Given the description of an element on the screen output the (x, y) to click on. 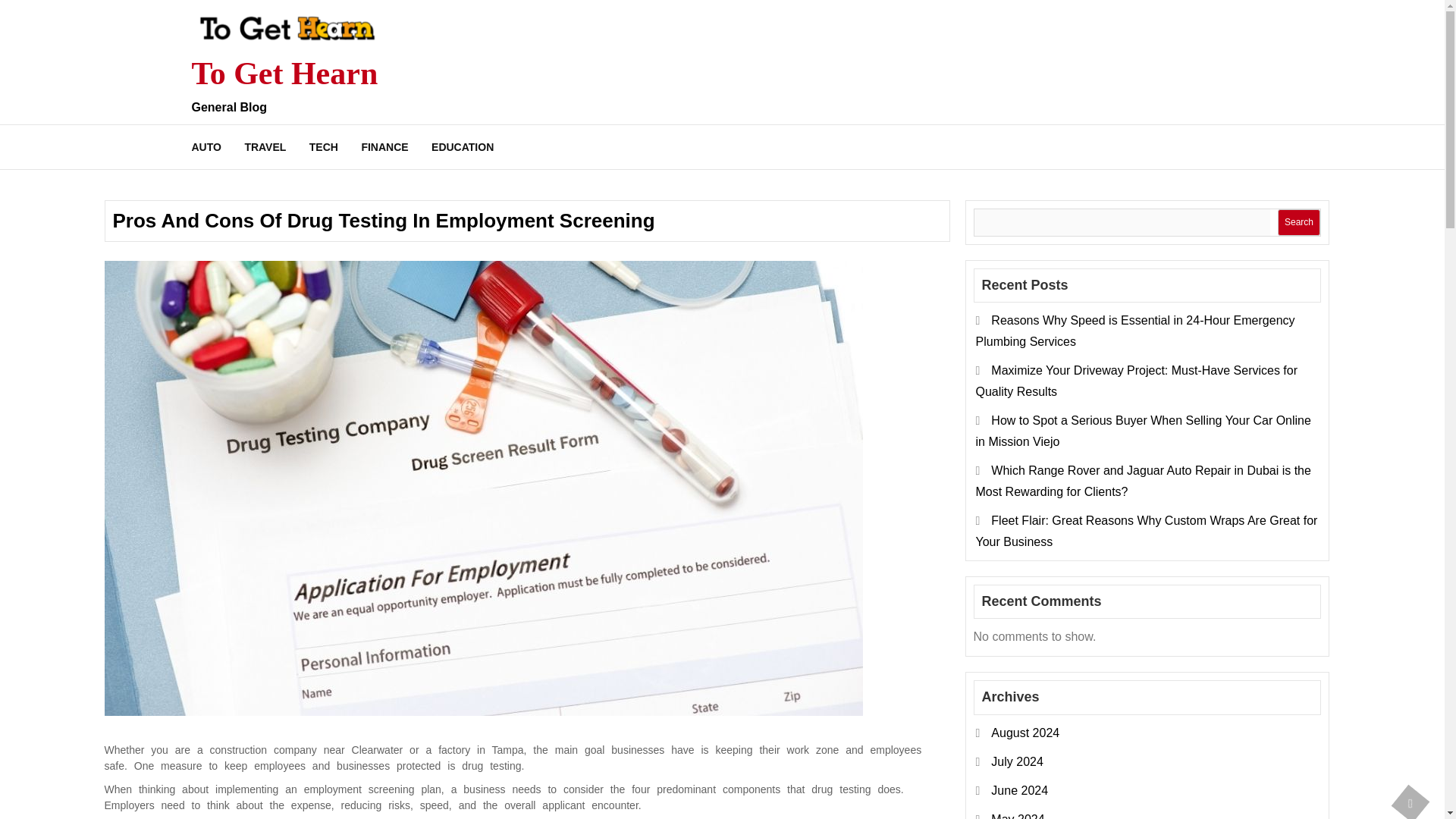
Search (1298, 222)
AUTO (210, 146)
May 2024 (1017, 816)
June 2024 (1019, 789)
EDUCATION (462, 146)
July 2024 (1017, 761)
